Given the description of an element on the screen output the (x, y) to click on. 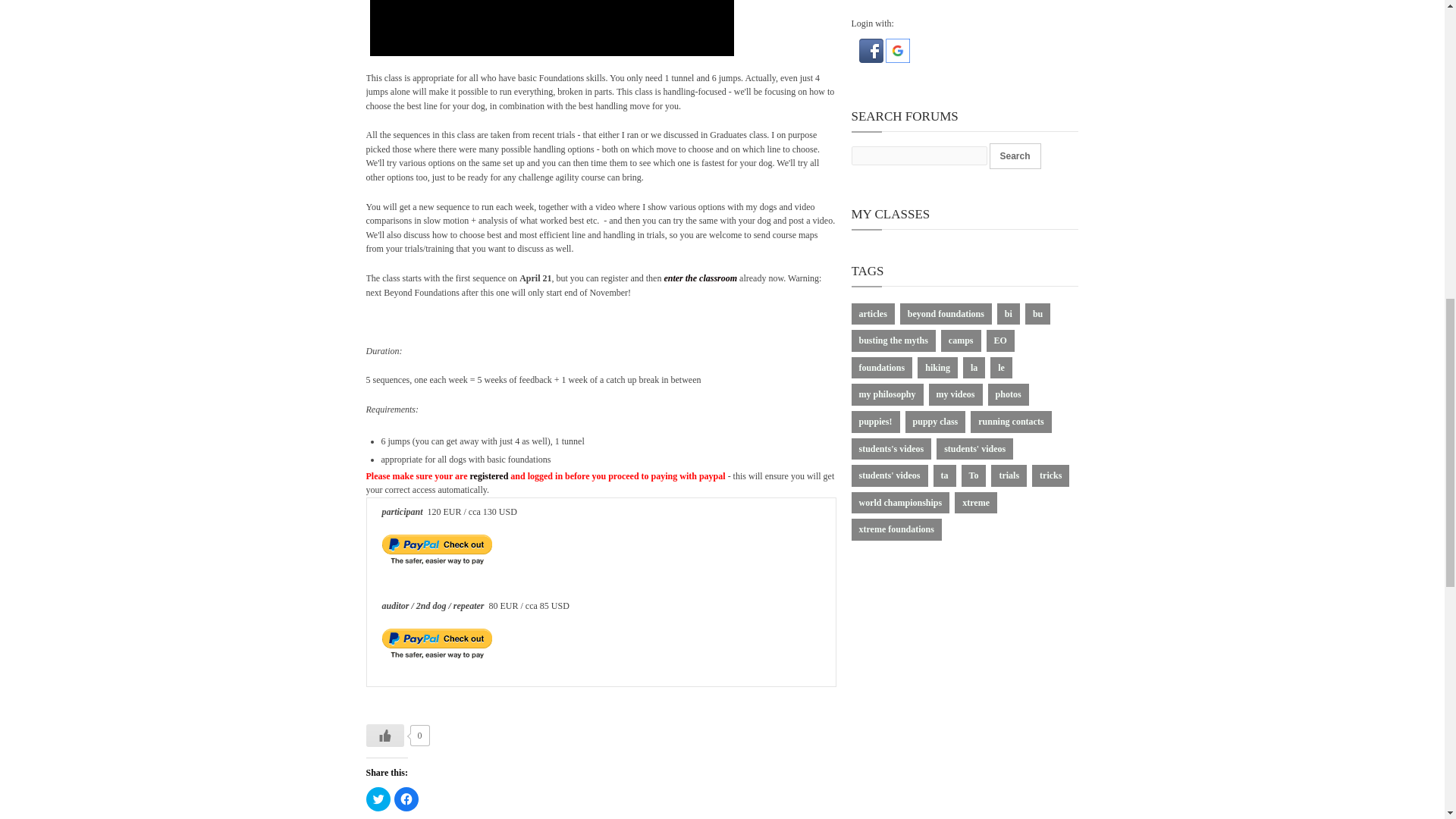
Click to share on Twitter (377, 799)
Connect with Google (897, 59)
Connect with Facebook (872, 59)
NEW!!! - BeyondFoundations online class Trailer (551, 28)
Click to share on Facebook (406, 799)
Search (1014, 155)
